Given the description of an element on the screen output the (x, y) to click on. 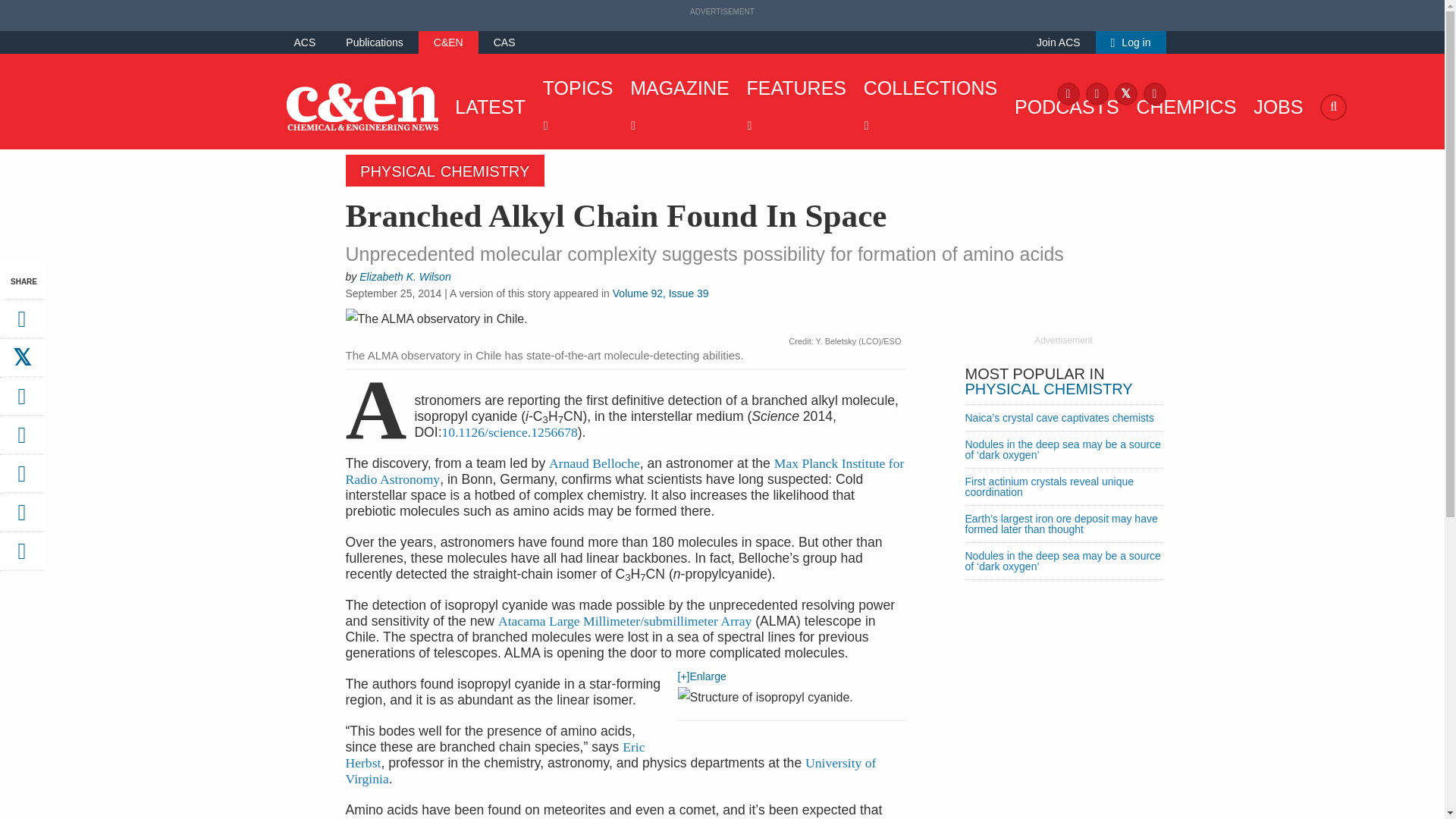
Log in (1130, 42)
Arnaud Belloche (594, 462)
Join ACS (1058, 42)
Facebook (1068, 92)
CAS (504, 42)
X (1126, 92)
ALMA observatory (624, 620)
Instagram (1097, 92)
Publications (374, 42)
LATEST (485, 106)
Max Planck Institute for Radio Astronomy (625, 470)
LinkedIn (1154, 92)
The ALMA observatory in Chile. (625, 320)
ACS (304, 42)
